Given the description of an element on the screen output the (x, y) to click on. 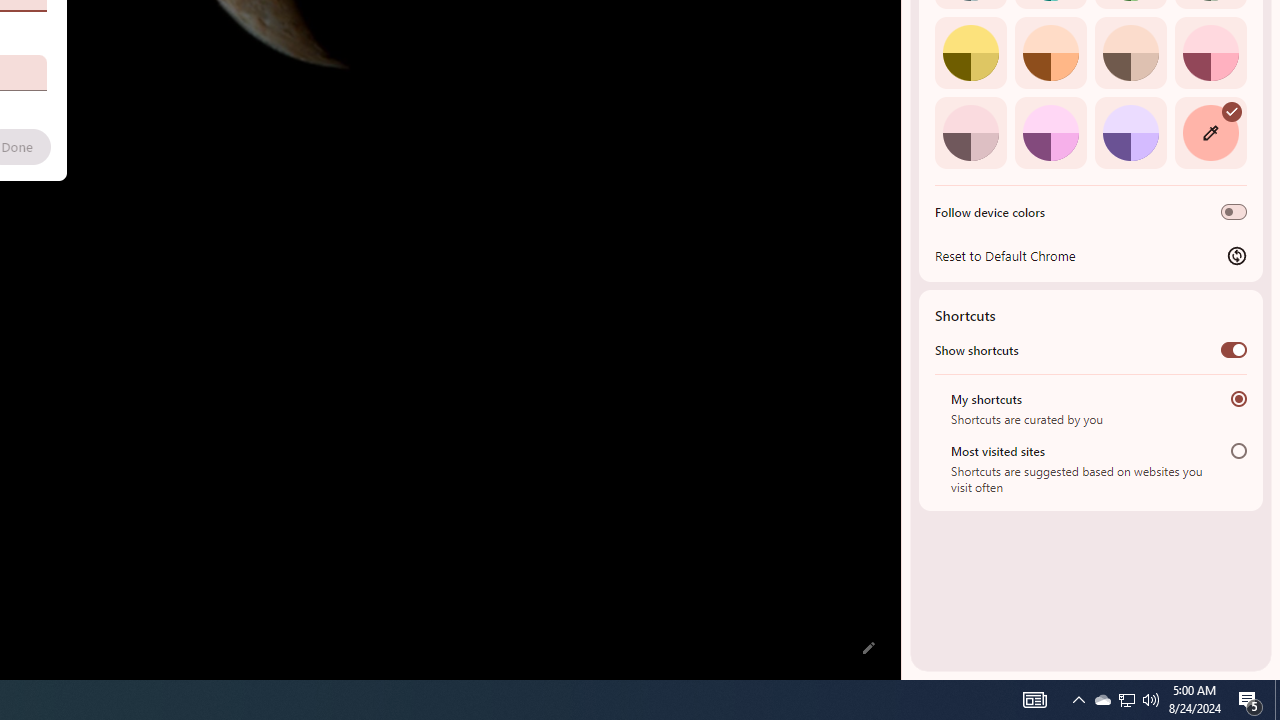
Pink (970, 132)
Fuchsia (1050, 132)
Most visited sites (1238, 450)
Side Panel Resize Handle (905, 39)
My shortcuts (1238, 398)
AutomationID: svg (1231, 110)
Follow device colors (1233, 211)
Apricot (1130, 52)
Rose (1210, 52)
Reset to Default Chrome (1091, 255)
Custom color (1210, 132)
Orange (1050, 52)
Show shortcuts (1233, 349)
Citron (970, 52)
